Given the description of an element on the screen output the (x, y) to click on. 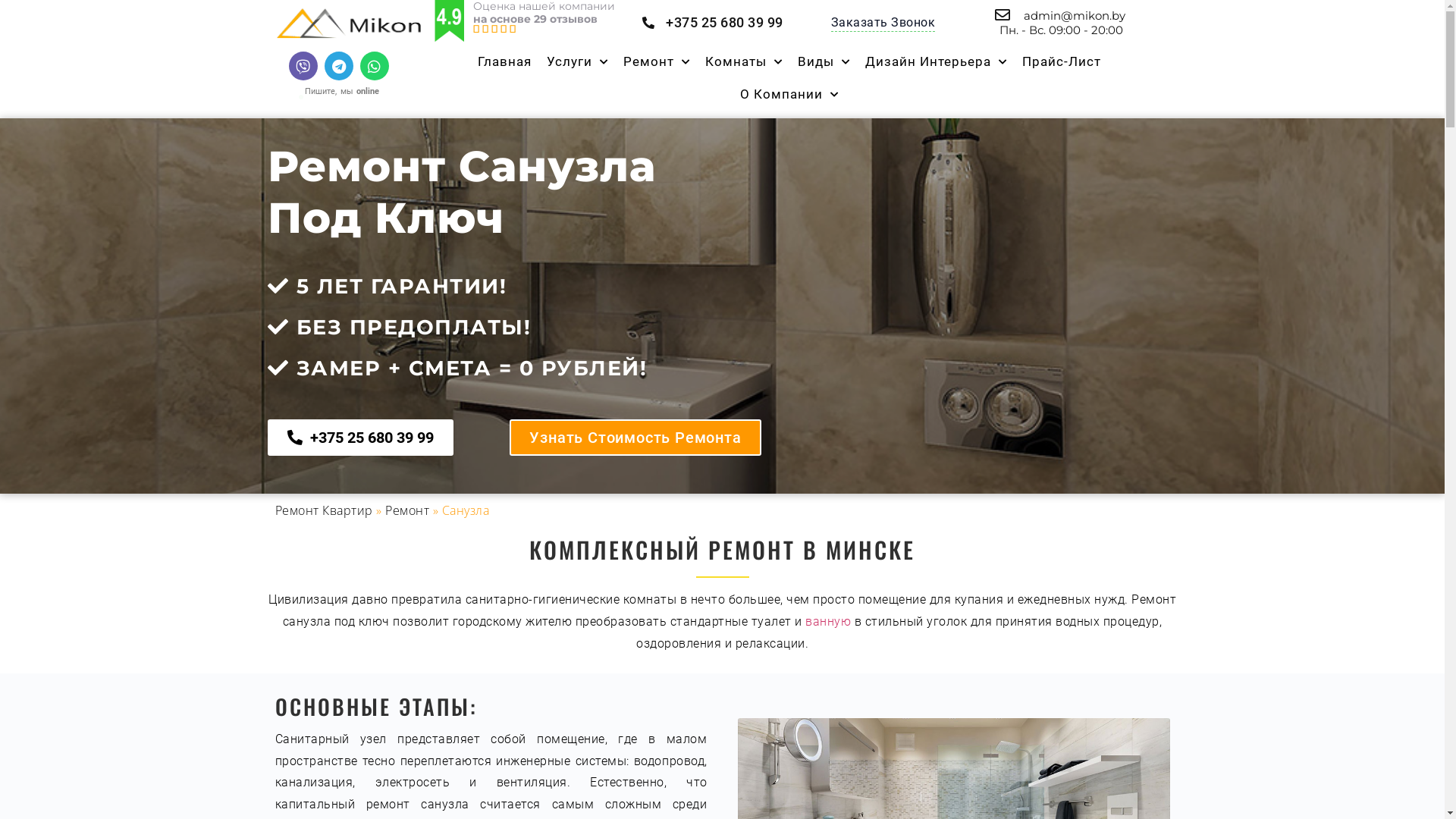
+375 25 680 39 99 Element type: text (359, 437)
. Element type: hover (300, 96)
admin@mikon.by Element type: text (1059, 14)
+375 25 680 39 99 Element type: text (711, 23)
